Given the description of an element on the screen output the (x, y) to click on. 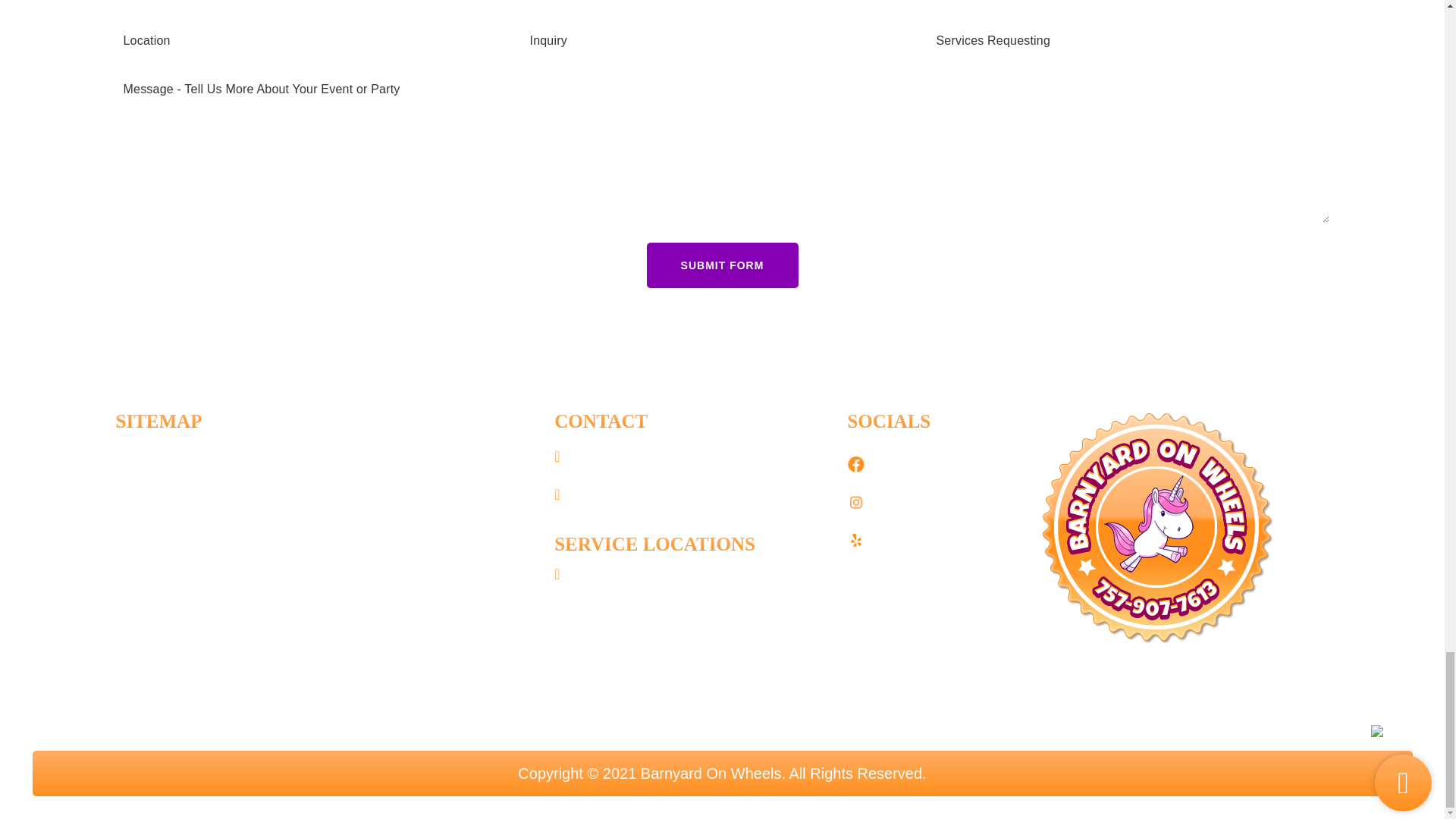
SUBMIT FORM (721, 265)
Venue (136, 569)
Rentals (141, 532)
SUBMIT FORM (721, 265)
Blog (344, 494)
Contact Us Here (386, 532)
Book Here (151, 494)
Home (135, 456)
